Given the description of an element on the screen output the (x, y) to click on. 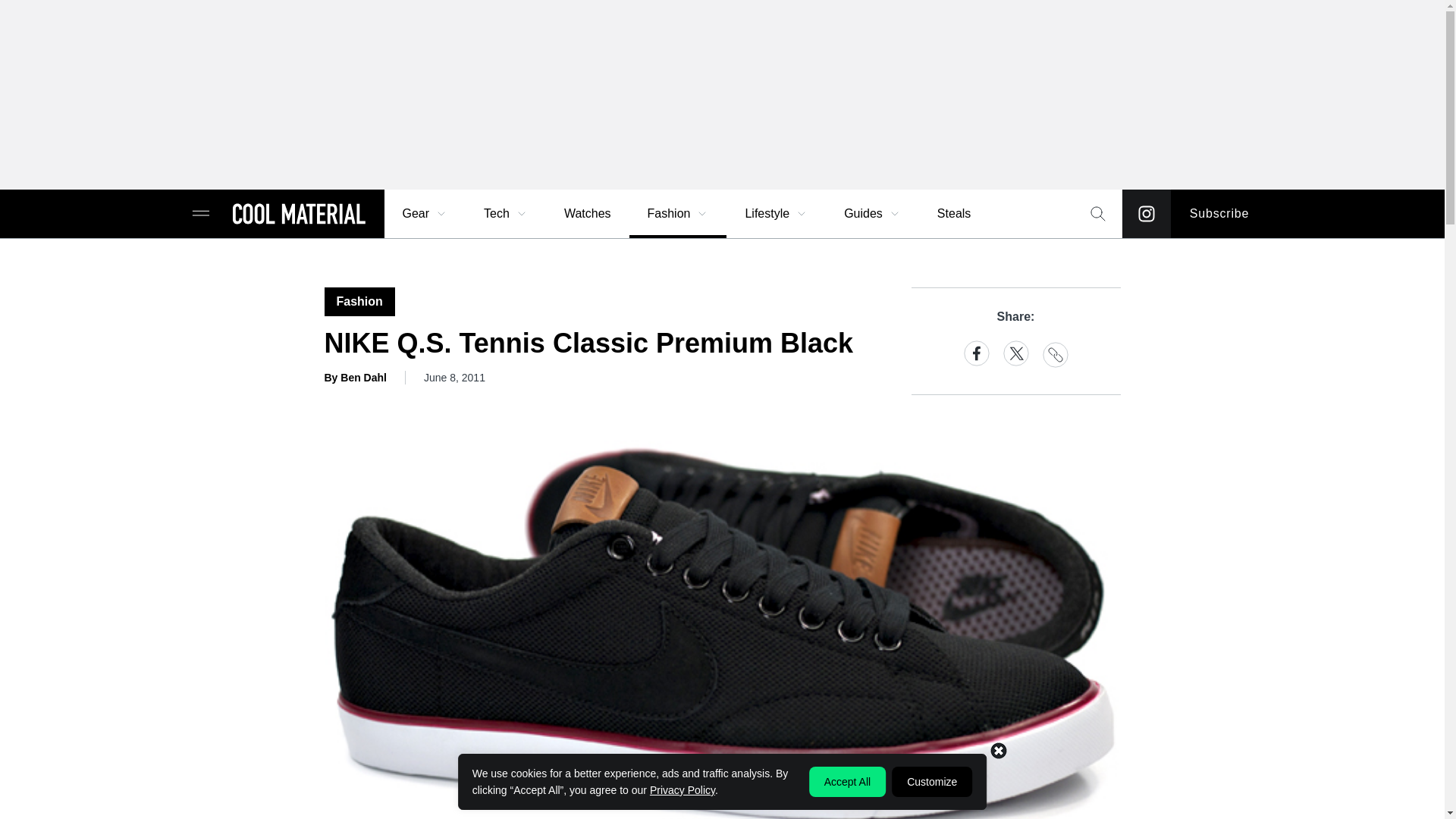
Gear (424, 213)
Lifestyle (775, 213)
Watches (587, 213)
Customize (931, 781)
Tech (505, 213)
Privacy Policy (681, 789)
3rd party ad content (721, 94)
3rd party ad content (721, 785)
Accept All (847, 781)
Fashion (677, 213)
